Given the description of an element on the screen output the (x, y) to click on. 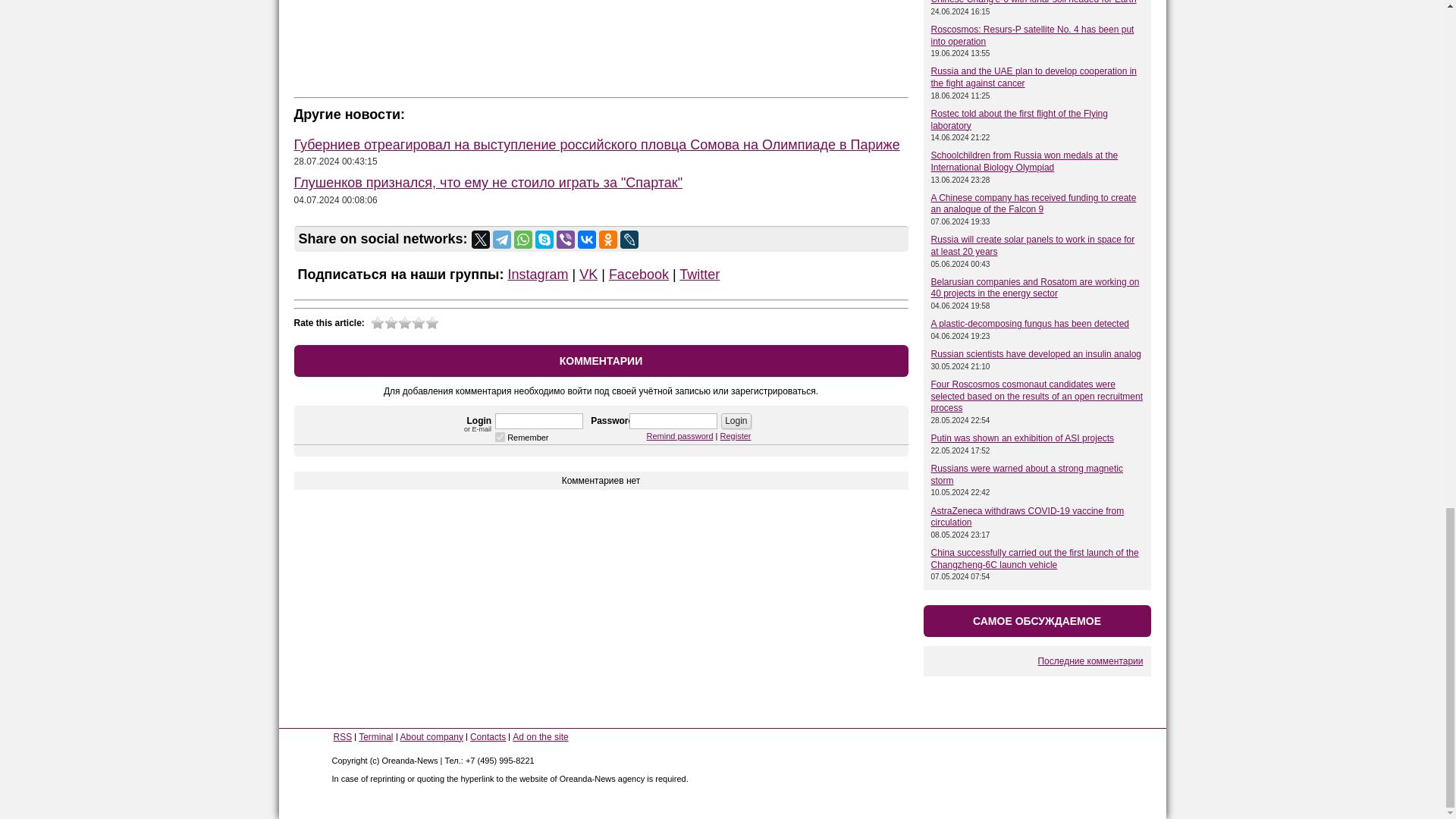
WhatsApp (522, 239)
Skype (544, 239)
LiveJournal (629, 239)
Login (735, 421)
Telegram (502, 239)
1 (500, 437)
Twitter (480, 239)
Viber (565, 239)
